Given the description of an element on the screen output the (x, y) to click on. 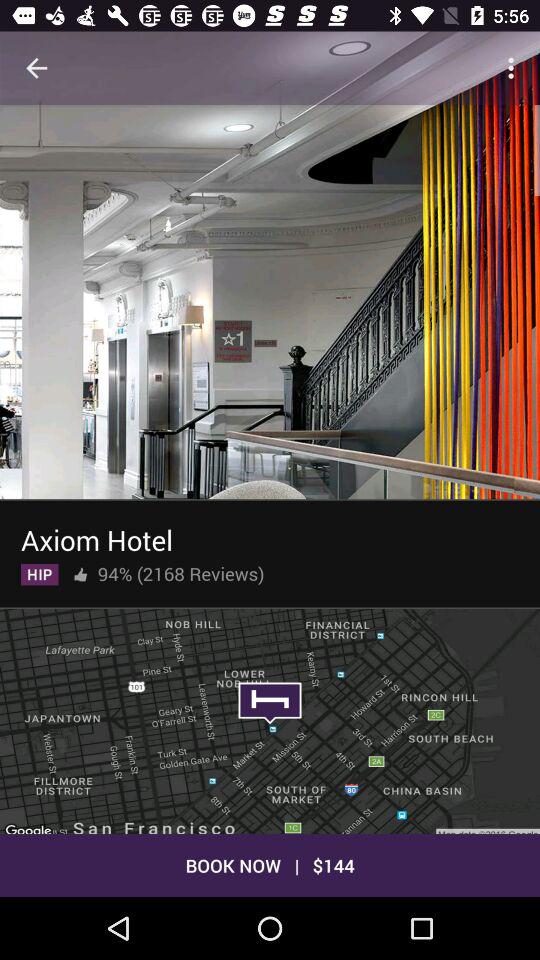
swipe until axiom hotel item (96, 536)
